Given the description of an element on the screen output the (x, y) to click on. 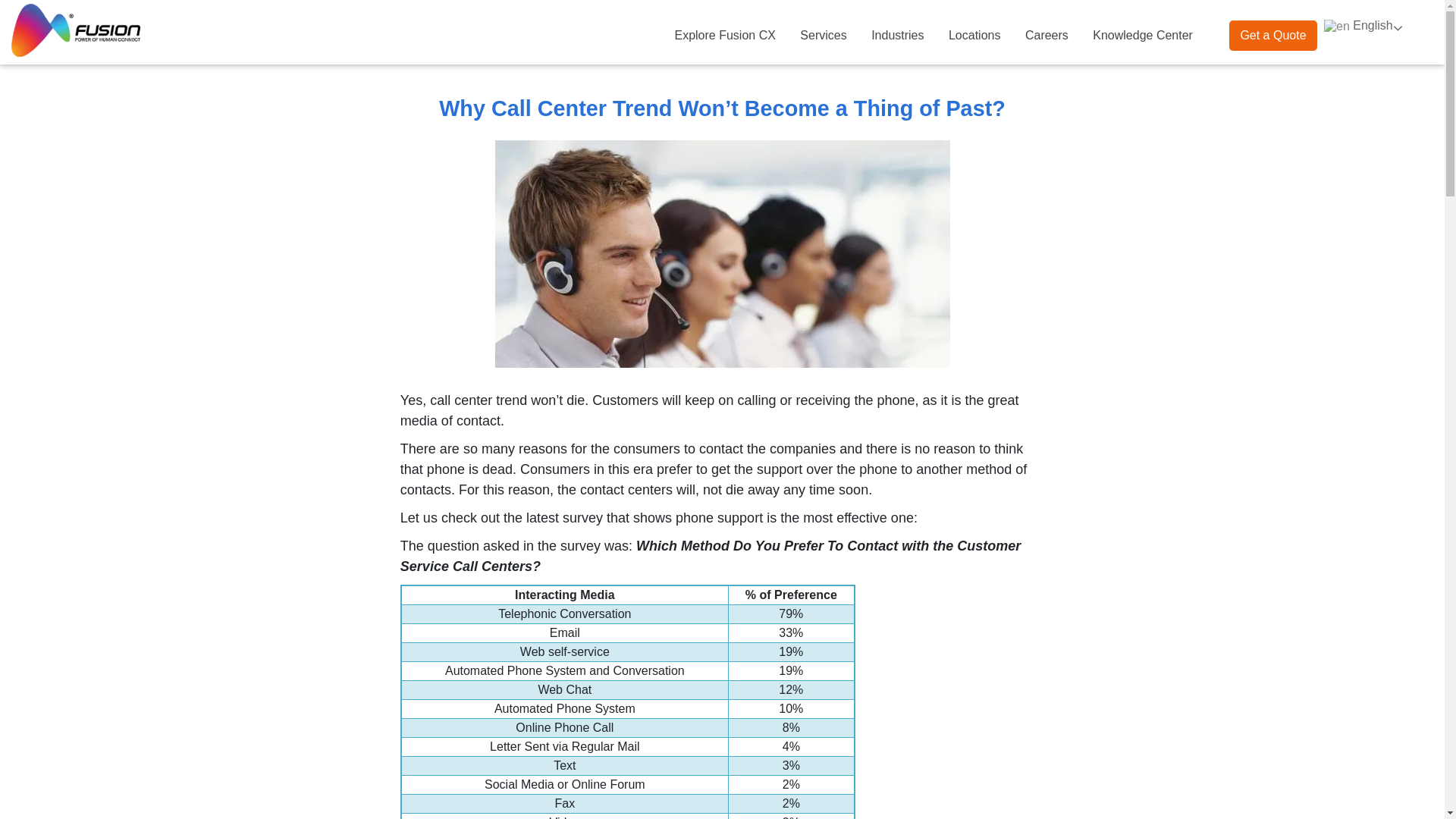
Explore Fusion CX (724, 35)
Industries (897, 35)
Services (823, 35)
